Given the description of an element on the screen output the (x, y) to click on. 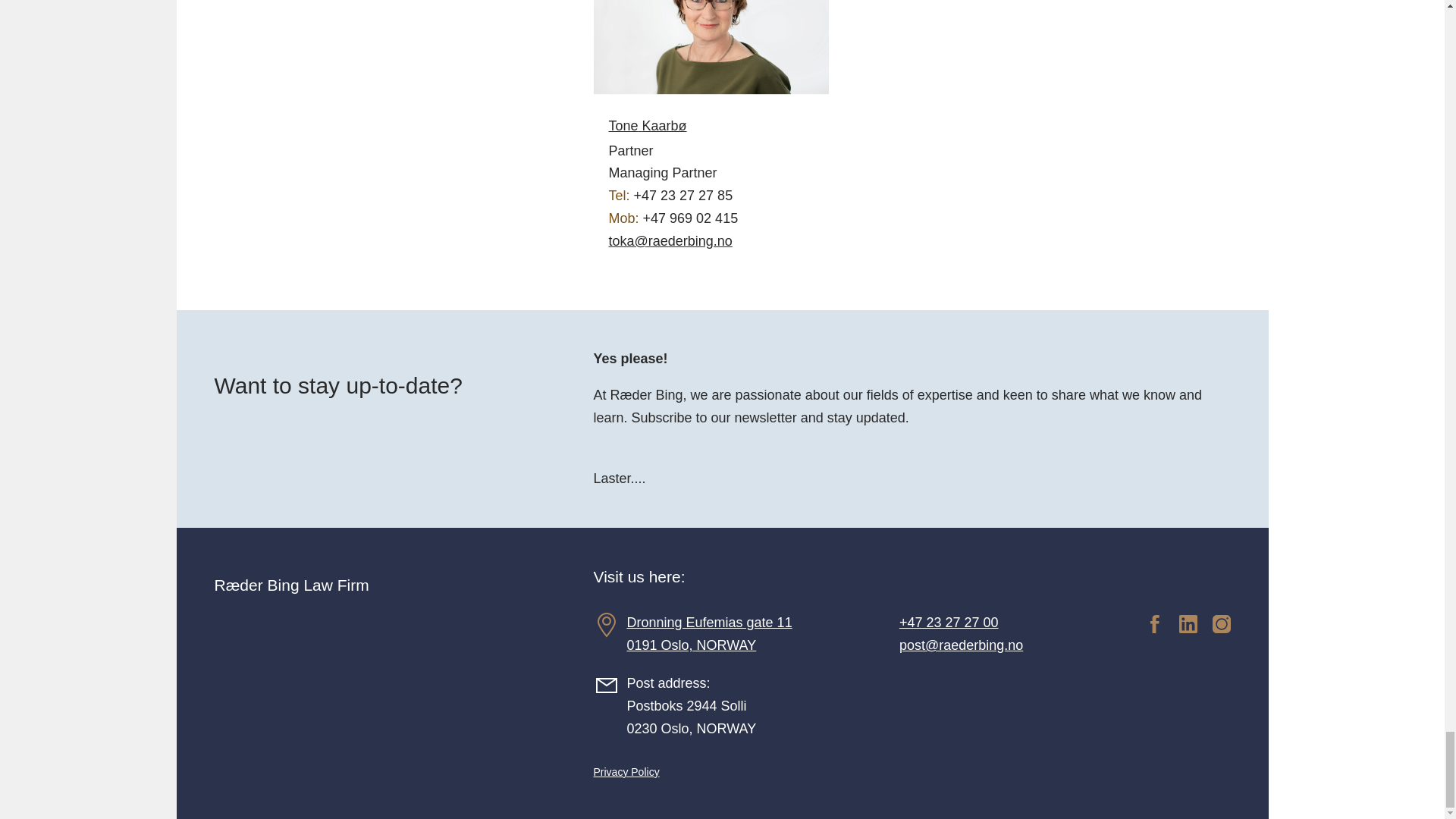
Facebook (1153, 624)
Privacy Policy (625, 771)
LinkedIn icon (1186, 624)
Mob: (710, 219)
Facebook (1146, 622)
LinkedIn icon (1179, 622)
Tel: (710, 196)
